Given the description of an element on the screen output the (x, y) to click on. 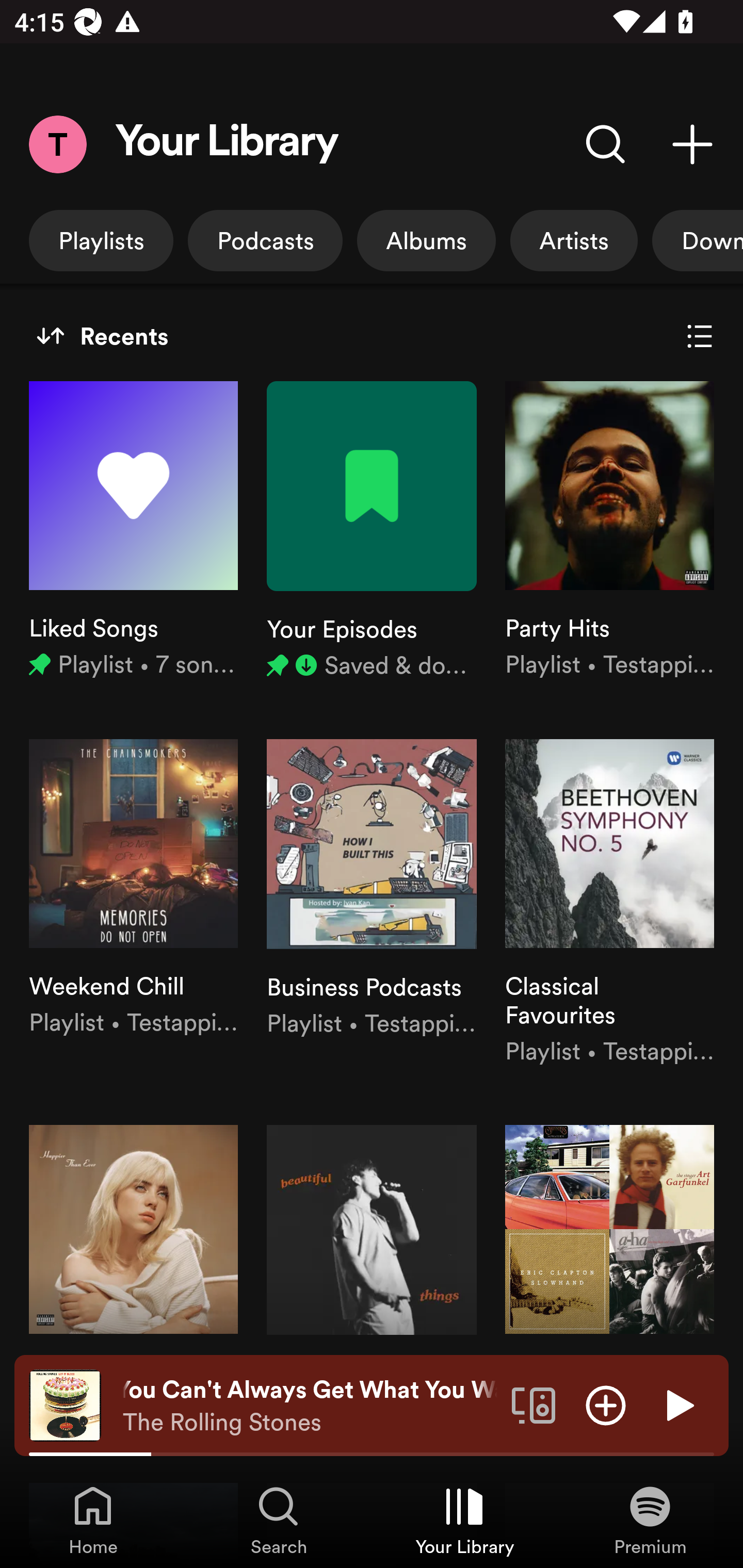
Menu (57, 144)
Search Your Library (605, 144)
Create playlist (692, 144)
Your Library Your Library Heading (226, 144)
Playlists, show only playlists. (100, 240)
Podcasts, show only podcasts. (264, 240)
Albums, show only albums. (426, 240)
Artists, show only artists. (573, 240)
Downloaded, show only downloaded. (697, 240)
Recents (101, 336)
Show List view (699, 336)
The cover art of the currently playing track (64, 1404)
Connect to a device. Opens the devices menu (533, 1404)
Add item (605, 1404)
Play (677, 1404)
Home, Tab 1 of 4 Home Home (92, 1519)
Search, Tab 2 of 4 Search Search (278, 1519)
Your Library, Tab 3 of 4 Your Library Your Library (464, 1519)
Premium, Tab 4 of 4 Premium Premium (650, 1519)
